Given the description of an element on the screen output the (x, y) to click on. 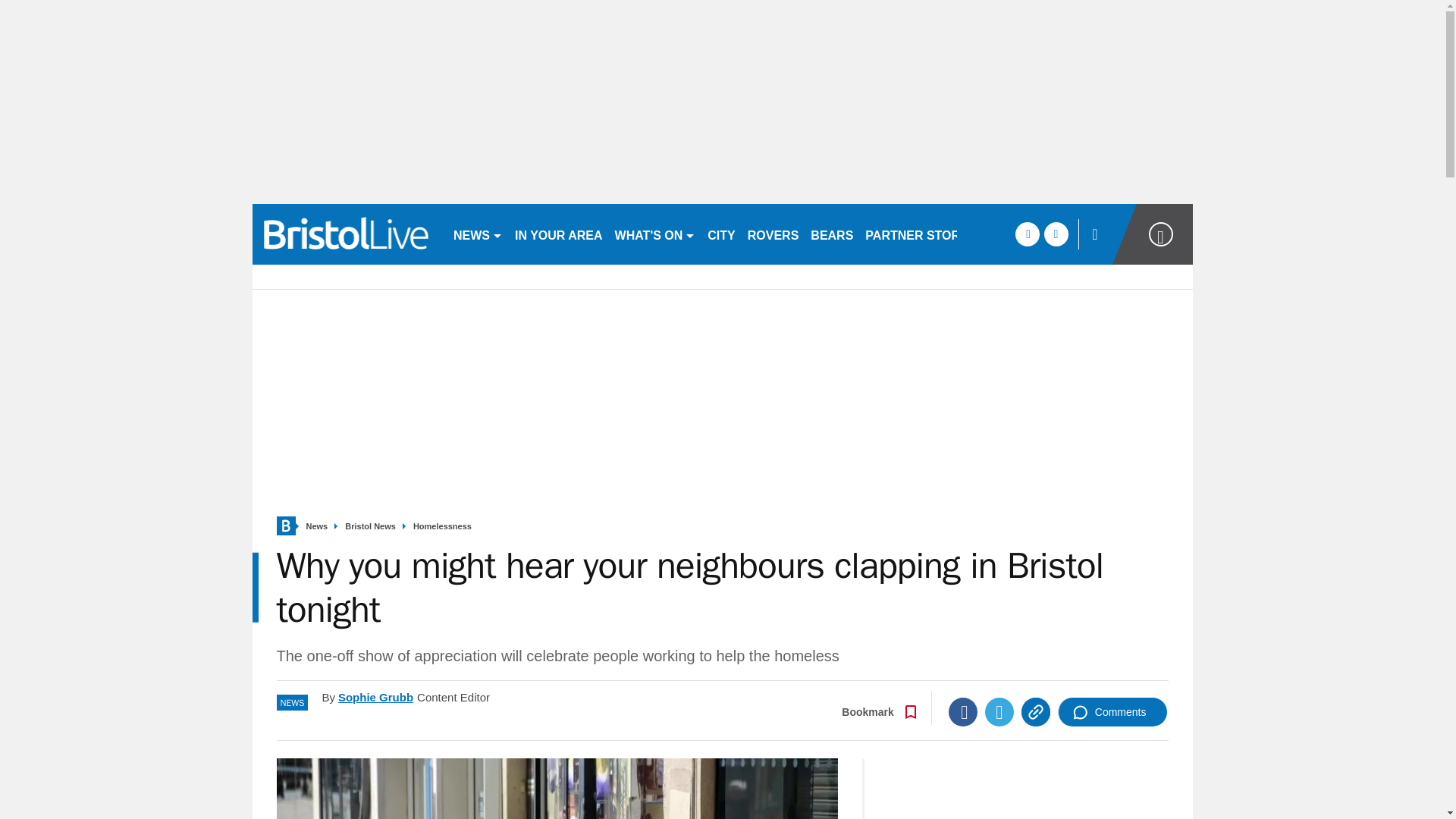
IN YOUR AREA (558, 233)
BEARS (832, 233)
WHAT'S ON (654, 233)
Comments (1112, 711)
Twitter (999, 711)
bristolpost (345, 233)
facebook (1026, 233)
ROVERS (773, 233)
Facebook (962, 711)
twitter (1055, 233)
